Given the description of an element on the screen output the (x, y) to click on. 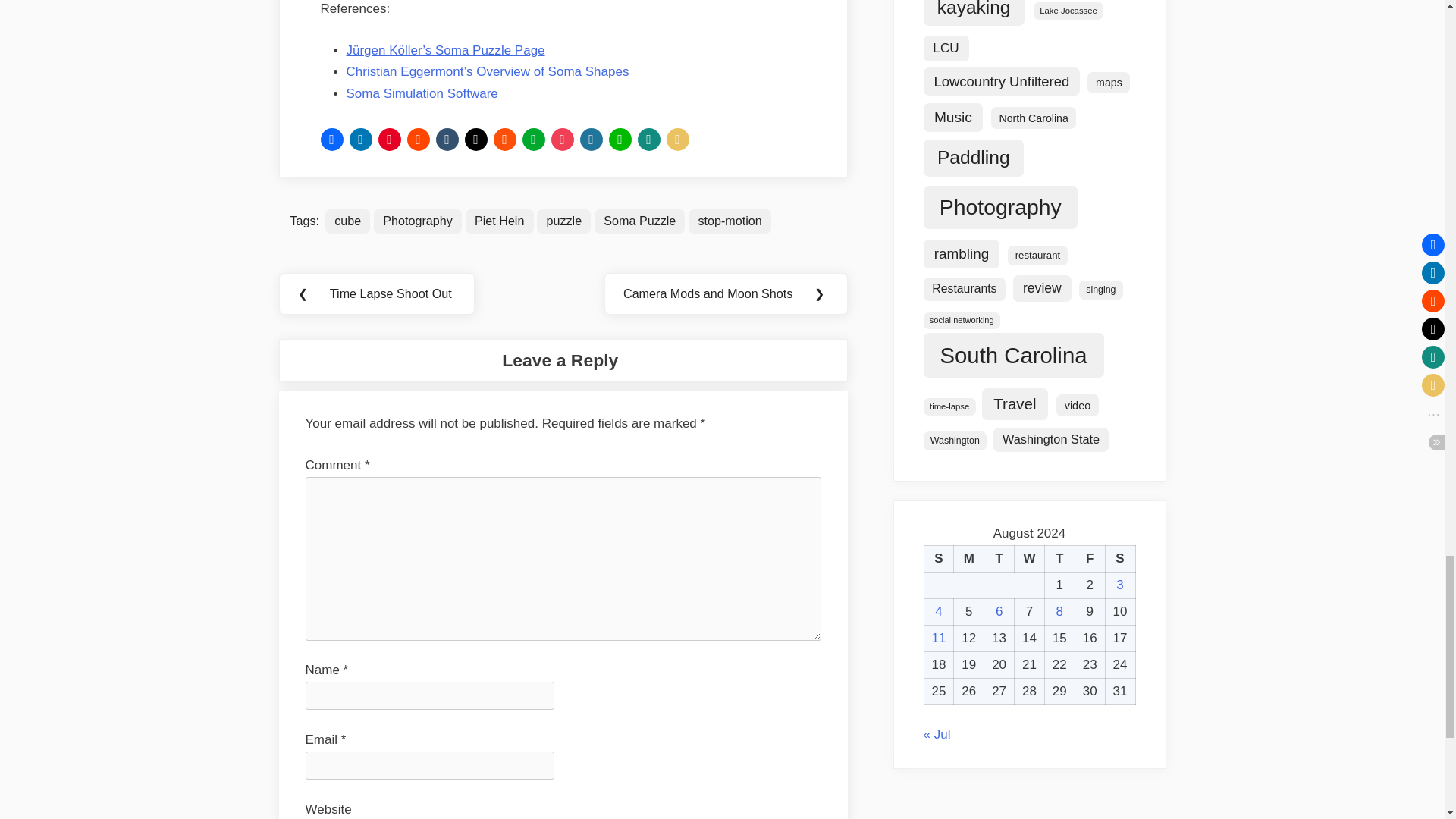
puzzle (564, 221)
Wednesday (1029, 559)
Friday (1089, 559)
Tuesday (999, 559)
Soma Puzzle (639, 221)
Monday (968, 559)
Saturday (1120, 559)
Soma Simulation Software (421, 93)
stop-motion (729, 221)
Photography (417, 221)
